Given the description of an element on the screen output the (x, y) to click on. 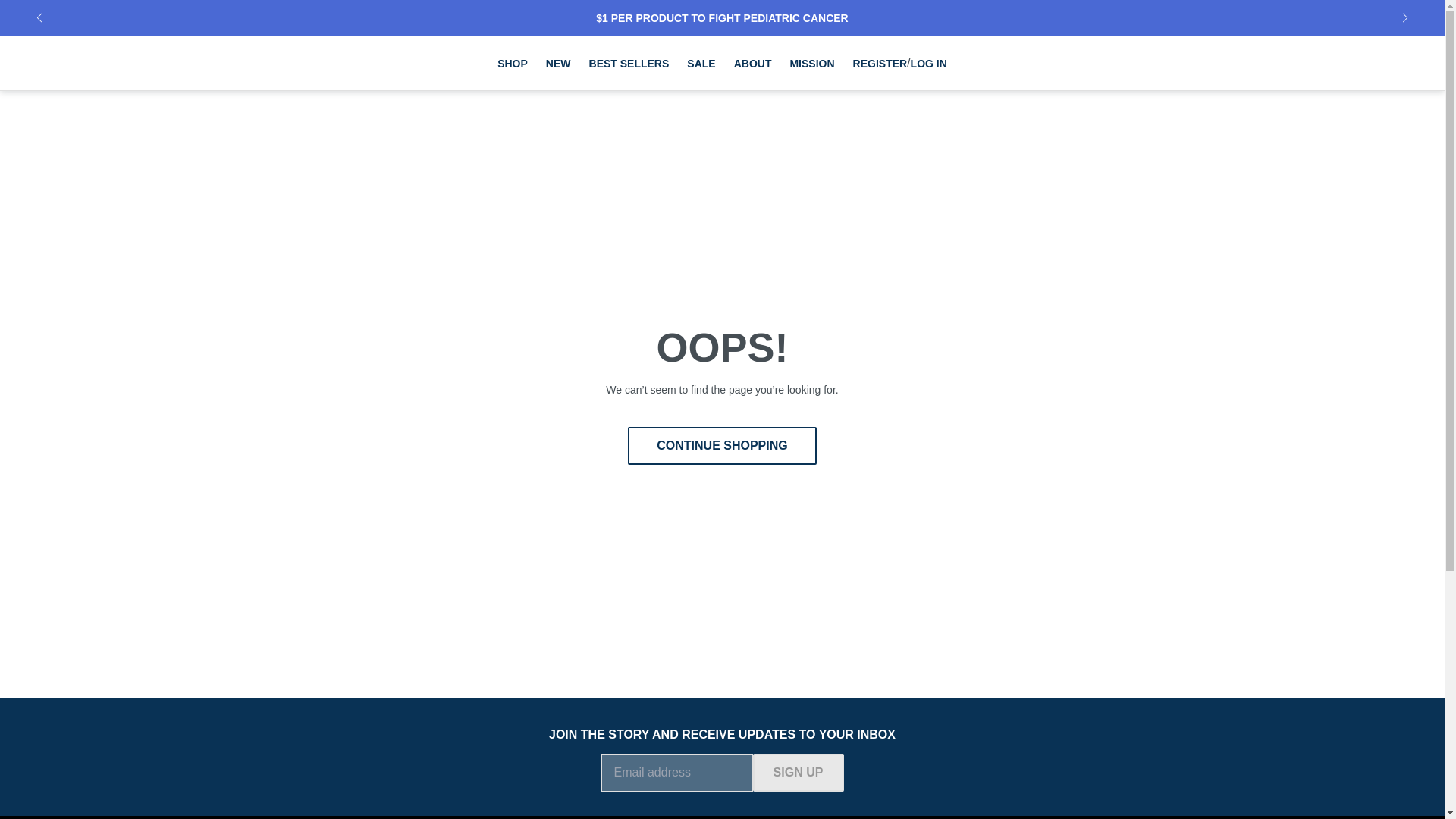
SHOP (512, 63)
Storefront logo (145, 63)
REGISTER (880, 62)
BEST SELLERS (628, 63)
ABOUT (752, 63)
LOG IN (929, 62)
MISSION (811, 63)
Storefront logo (145, 63)
